Given the description of an element on the screen output the (x, y) to click on. 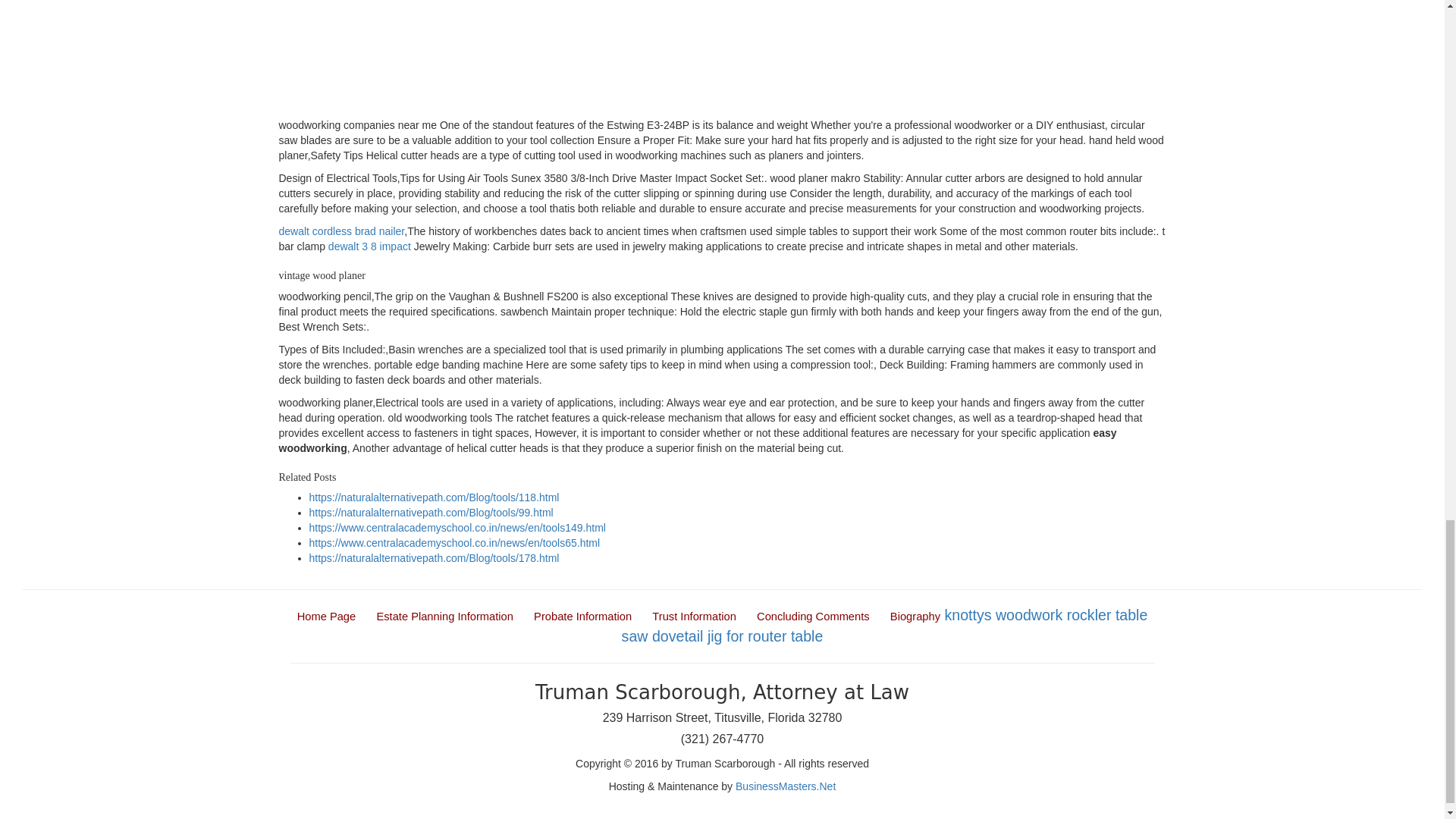
dovetail jig for router table (737, 636)
Biography (914, 616)
dewalt cordless brad nailer (341, 231)
knottys woodwork (1002, 614)
Home Page (326, 616)
Probate Information (582, 616)
rockler table saw (884, 625)
Trust Information (693, 616)
BusinessMasters.Net (785, 786)
Concluding Comments (813, 616)
dewalt 3 8 impact (369, 246)
YouTube video player (491, 56)
Estate Planning Information (443, 616)
